Given the description of an element on the screen output the (x, y) to click on. 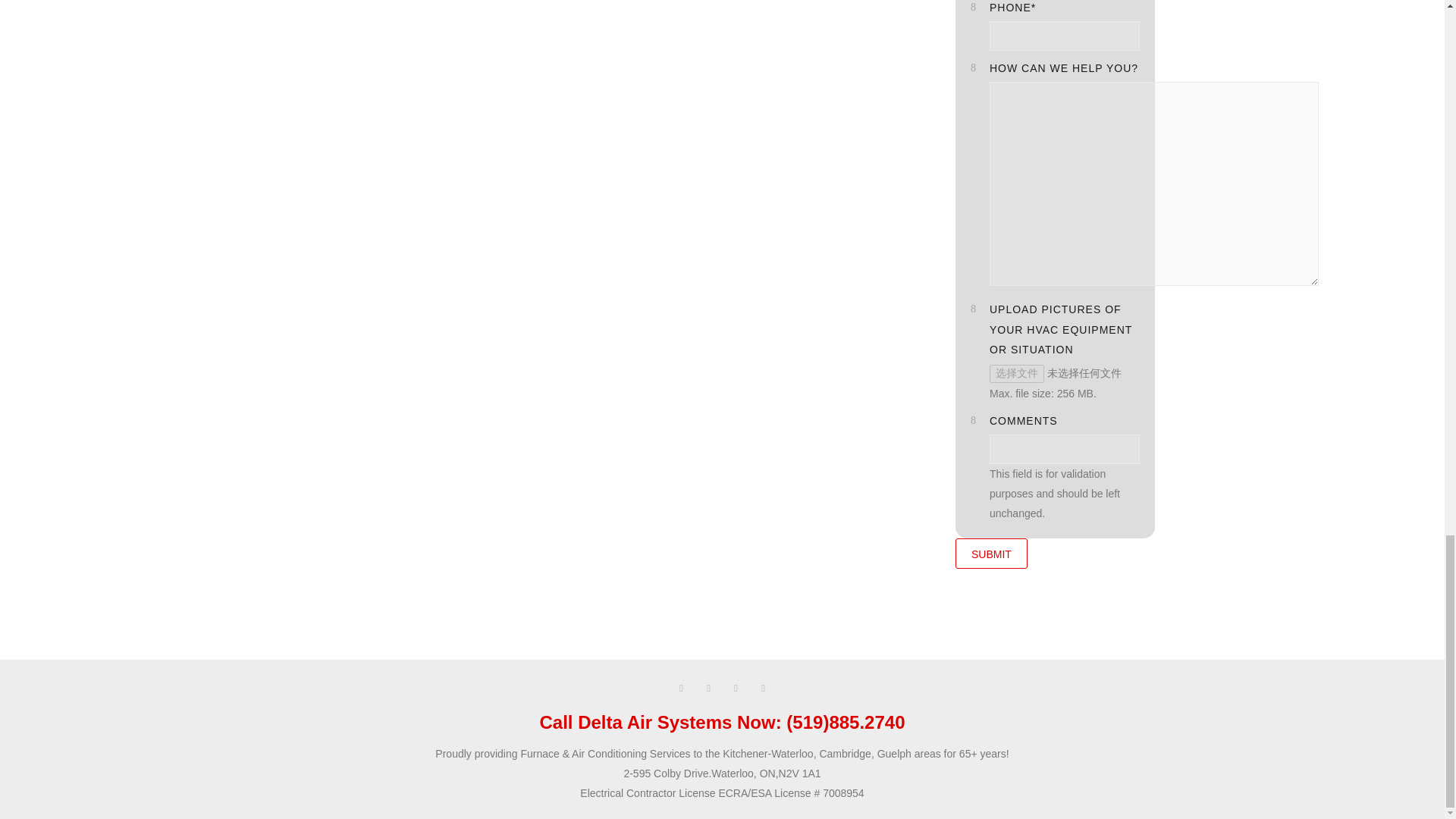
Instagram (735, 687)
linkedin (708, 687)
Submit (991, 553)
Facebook (680, 687)
YouTube (762, 687)
